Given the description of an element on the screen output the (x, y) to click on. 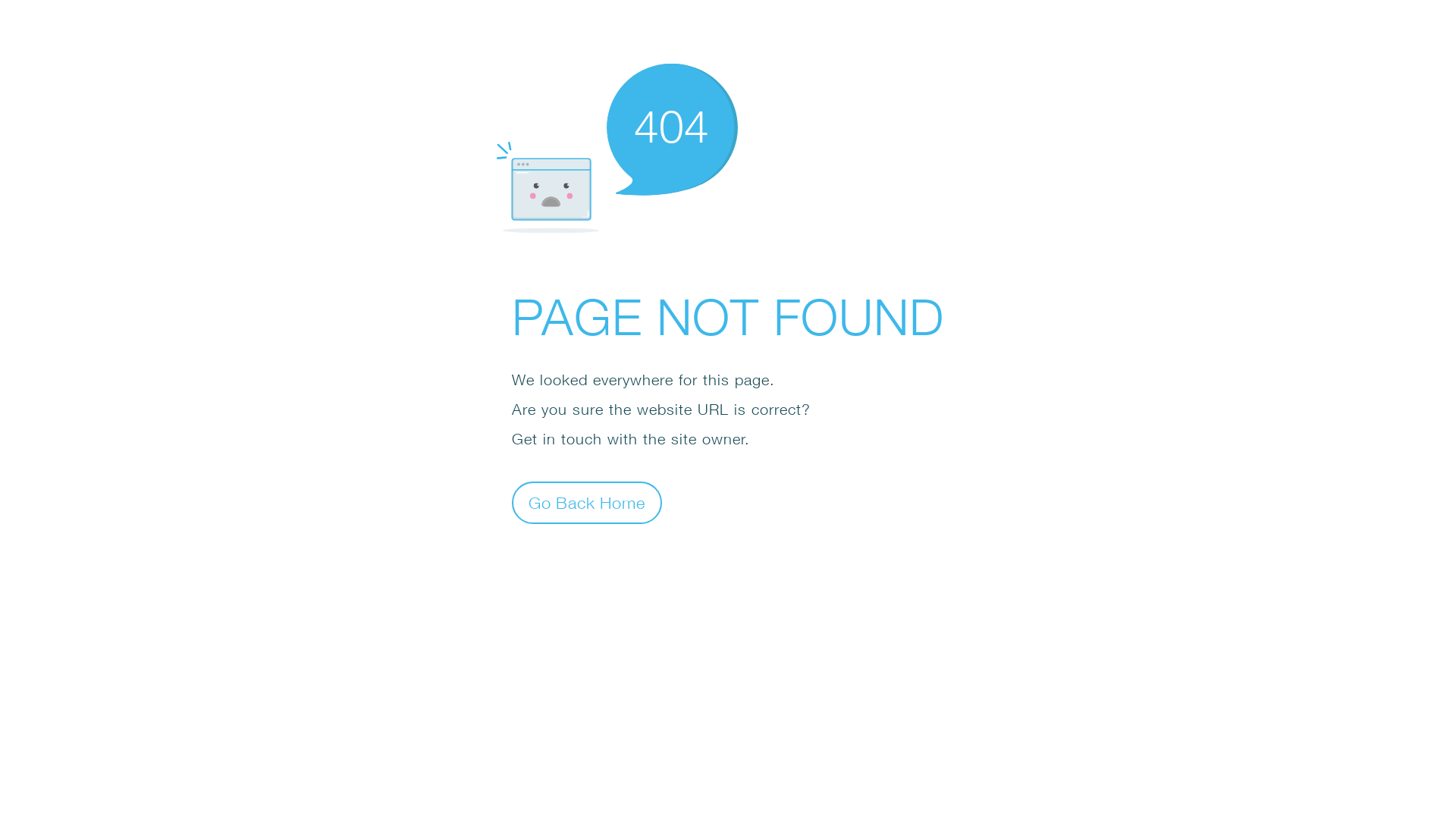
Go Back Home Element type: text (586, 502)
